Given the description of an element on the screen output the (x, y) to click on. 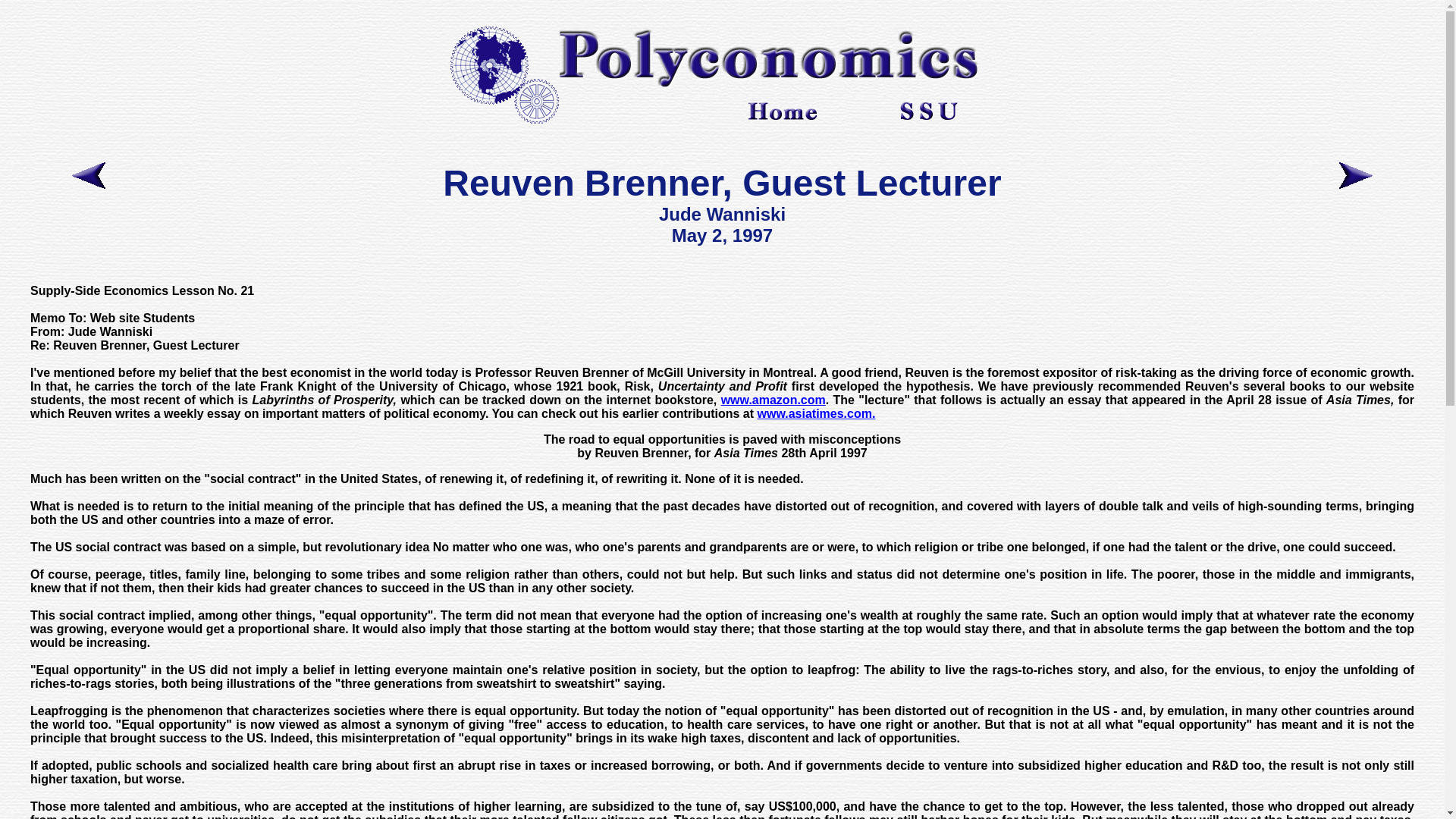
www.asiatimes.com. (816, 413)
www.amazon.com (772, 399)
